Given the description of an element on the screen output the (x, y) to click on. 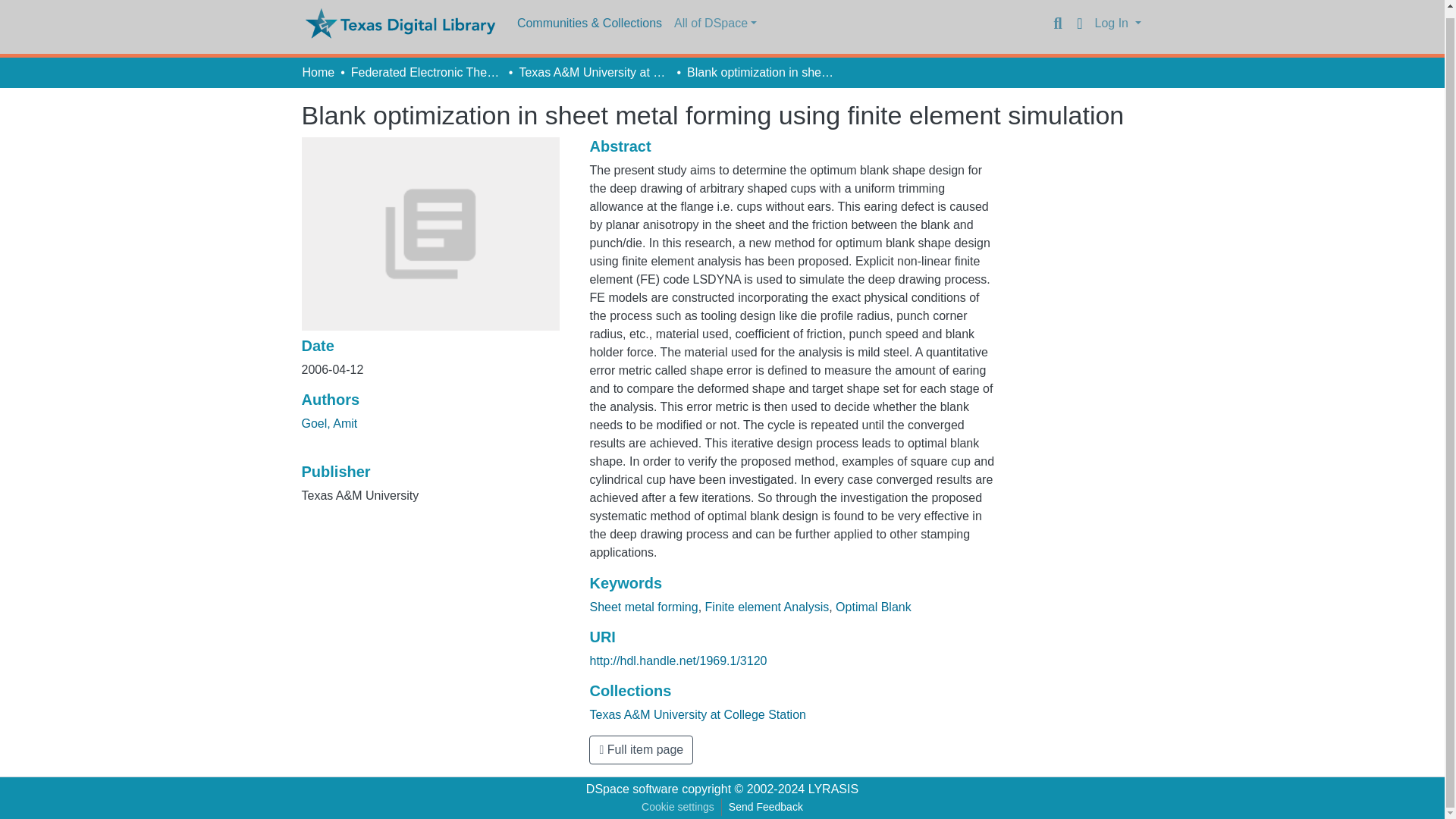
Sheet metal forming (643, 606)
All of DSpace (715, 23)
Send Feedback (765, 806)
LYRASIS (833, 788)
Log In (1117, 23)
DSpace software (632, 788)
Cookie settings (677, 806)
Full item page (641, 749)
Federated Electronic Theses and Dissertations (426, 72)
Search (1057, 23)
Goel, Amit (329, 422)
Language switch (1079, 23)
Optimal Blank (873, 606)
Home (317, 72)
Finite element Analysis (766, 606)
